Given the description of an element on the screen output the (x, y) to click on. 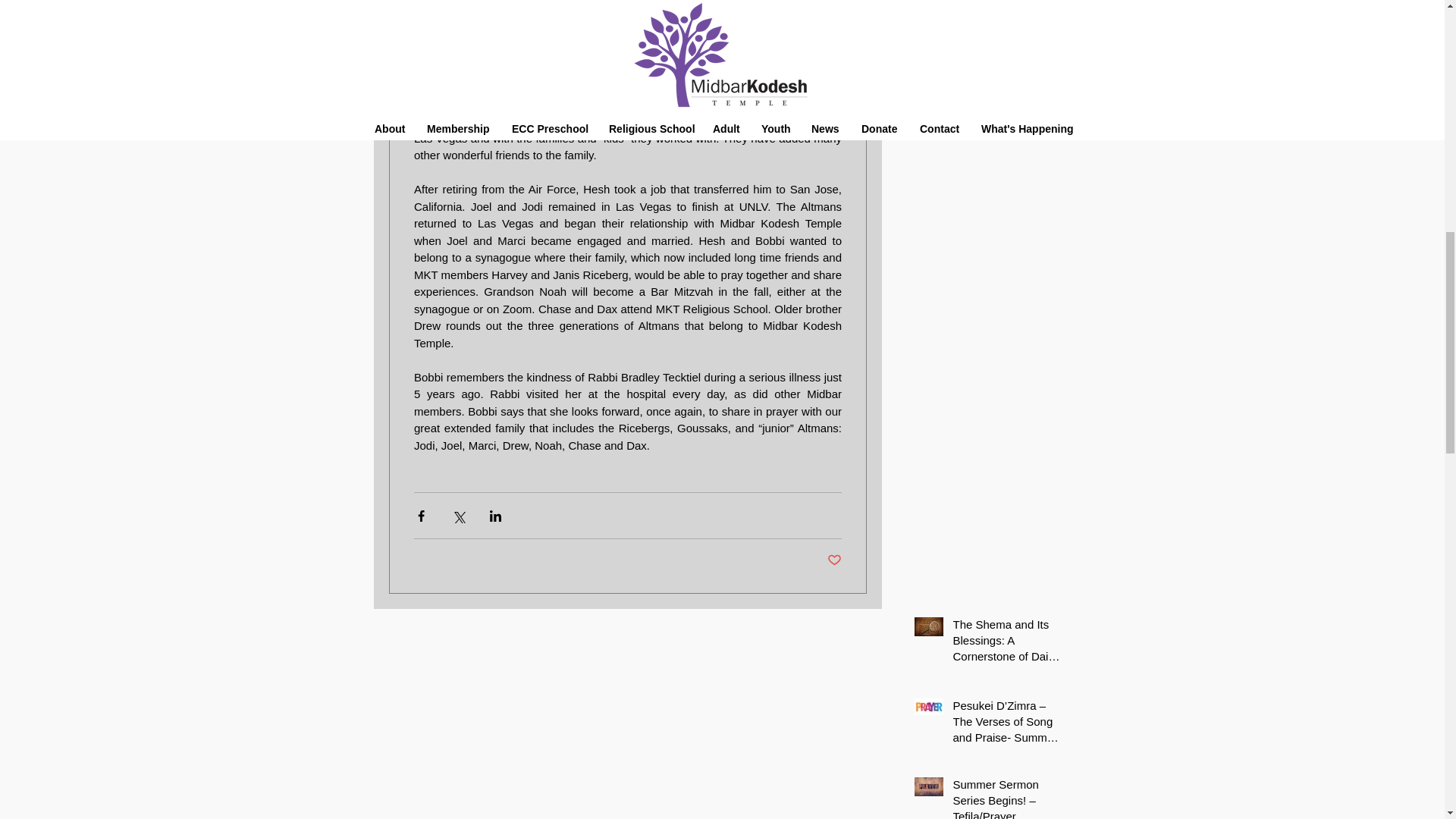
Post not marked as liked (834, 560)
The Shema and Its Blessings: A Cornerstone of Daily Prayer (1006, 643)
